Given the description of an element on the screen output the (x, y) to click on. 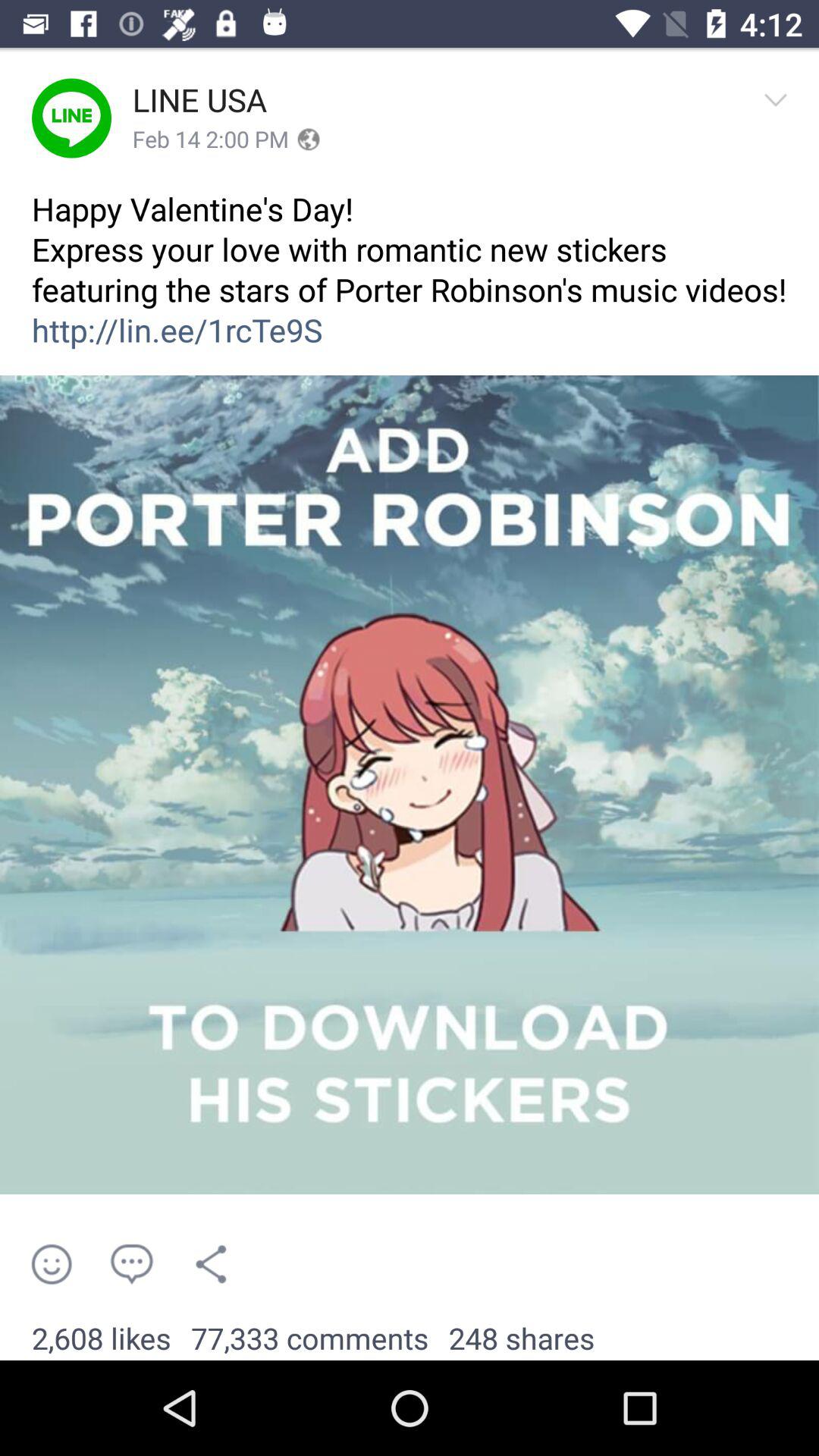
turn on item next to 77,333 comments app (101, 1339)
